Given the description of an element on the screen output the (x, y) to click on. 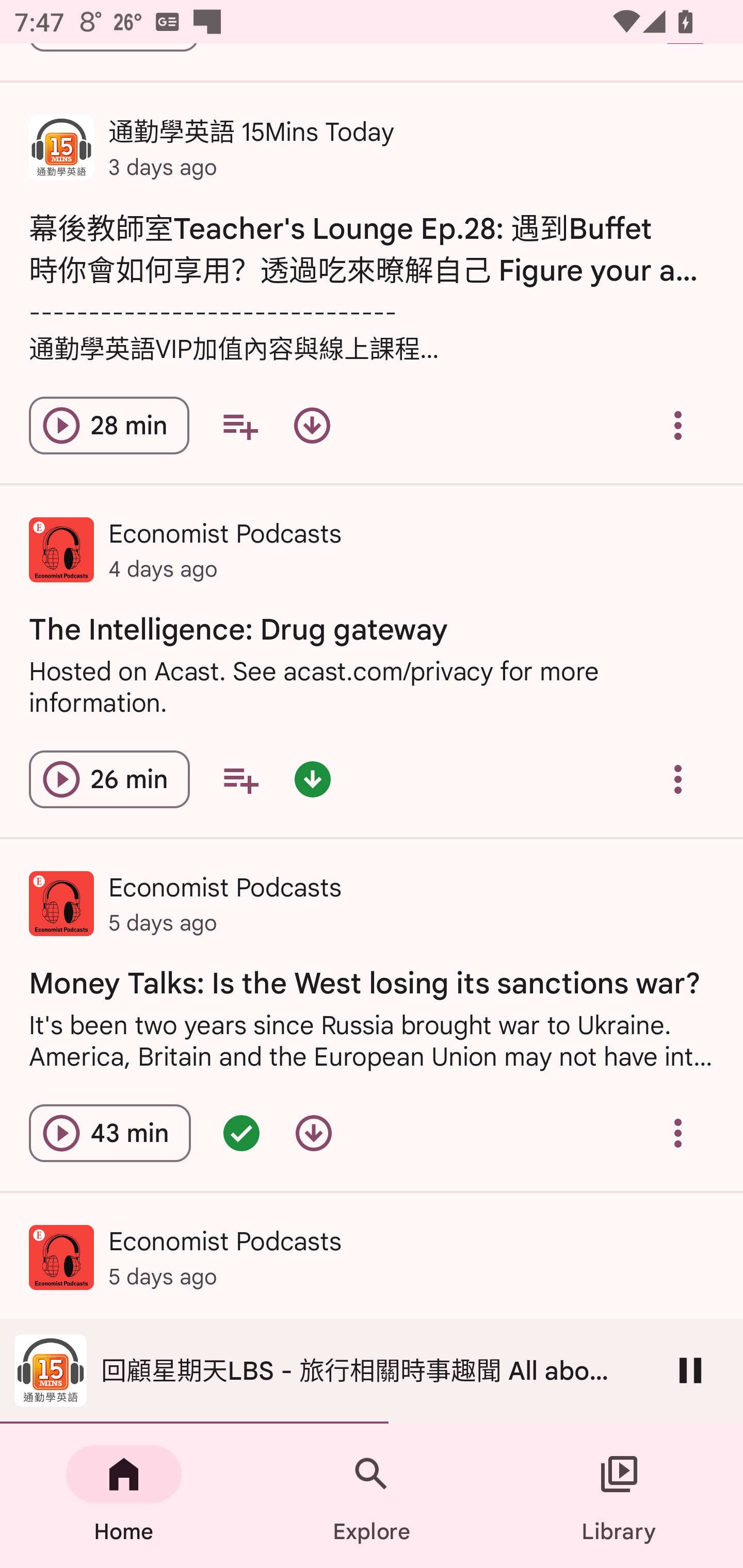
Add to your queue (239, 425)
Download episode (312, 425)
Overflow menu (677, 425)
Play episode The Intelligence: Drug gateway 26 min (109, 779)
Add to your queue (240, 779)
Episode downloaded - double tap for options (312, 779)
Overflow menu (677, 779)
Episode queued - double tap for options (241, 1132)
Download episode (313, 1132)
Overflow menu (677, 1132)
Pause (690, 1370)
Explore (371, 1495)
Library (619, 1495)
